Given the description of an element on the screen output the (x, y) to click on. 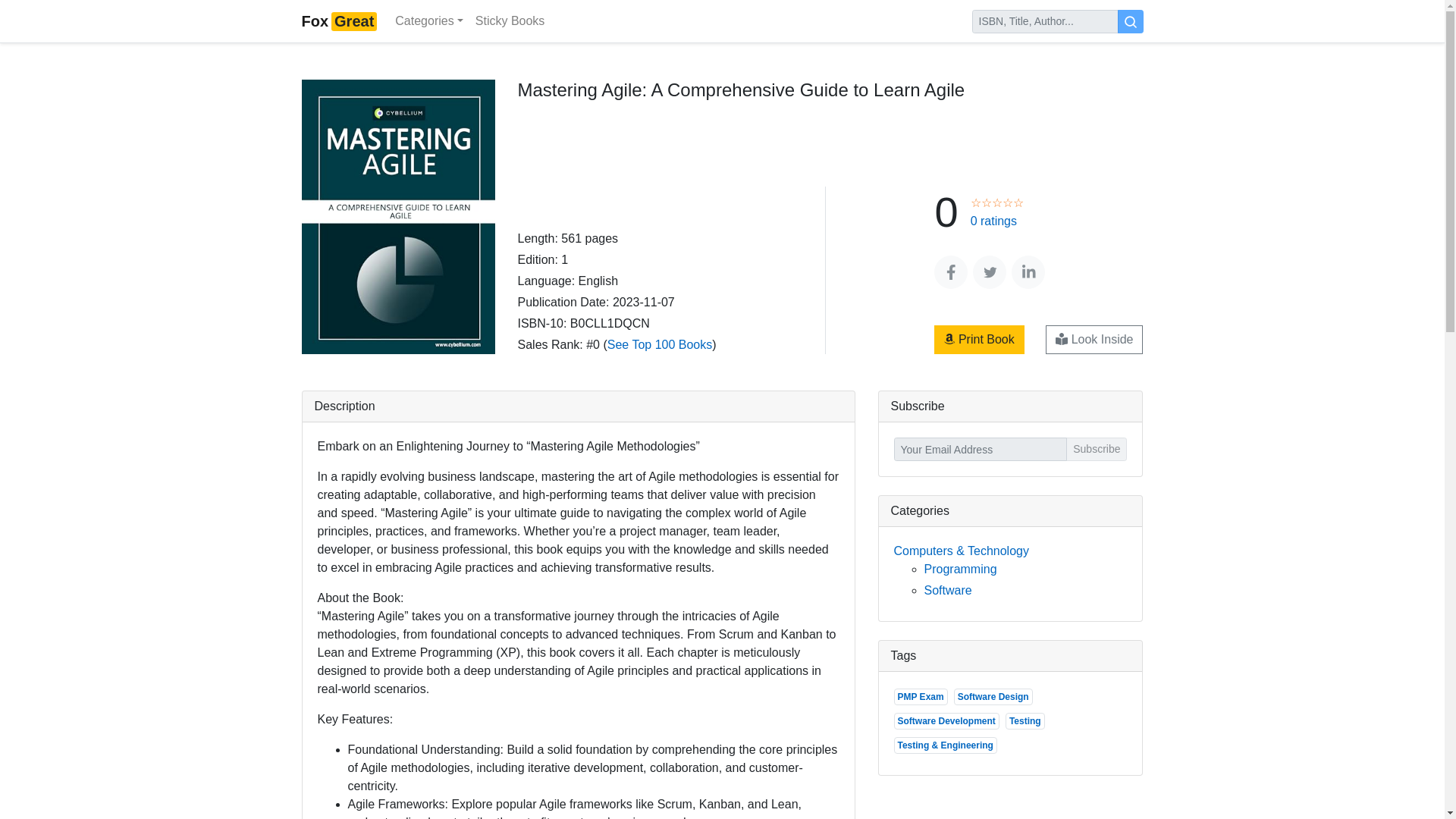
0 ratings (997, 221)
FoxGreat (339, 20)
Categories (428, 20)
See Top 100 Books (659, 344)
Sticky Books (509, 20)
